Given the description of an element on the screen output the (x, y) to click on. 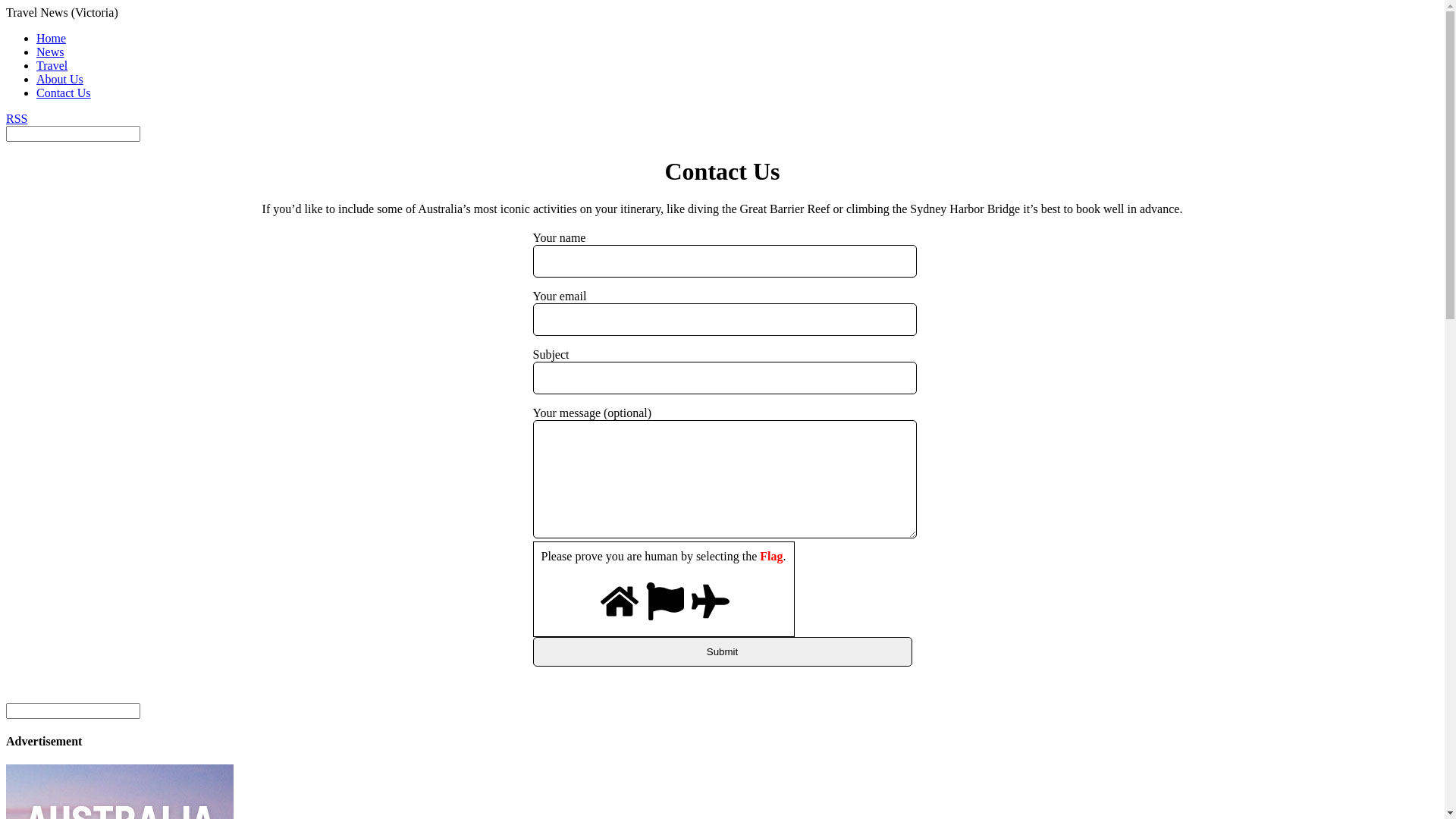
Search Element type: hover (73, 710)
Contact Us Element type: text (63, 92)
Submit Element type: text (721, 651)
Search Element type: hover (73, 133)
RSS Element type: text (16, 118)
About Us Element type: text (59, 78)
Travel Element type: text (51, 65)
Home Element type: text (50, 37)
News Element type: text (49, 51)
